Given the description of an element on the screen output the (x, y) to click on. 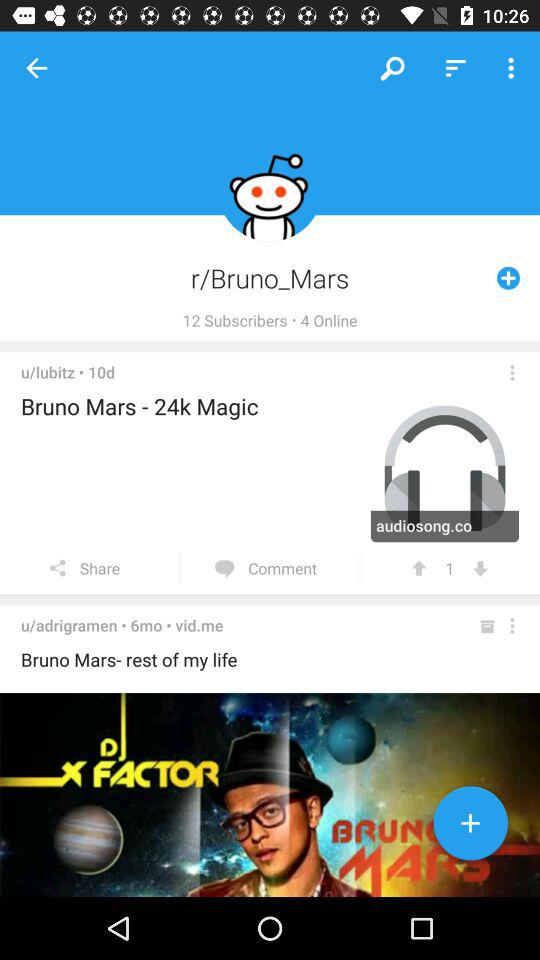
downvote (480, 568)
